Given the description of an element on the screen output the (x, y) to click on. 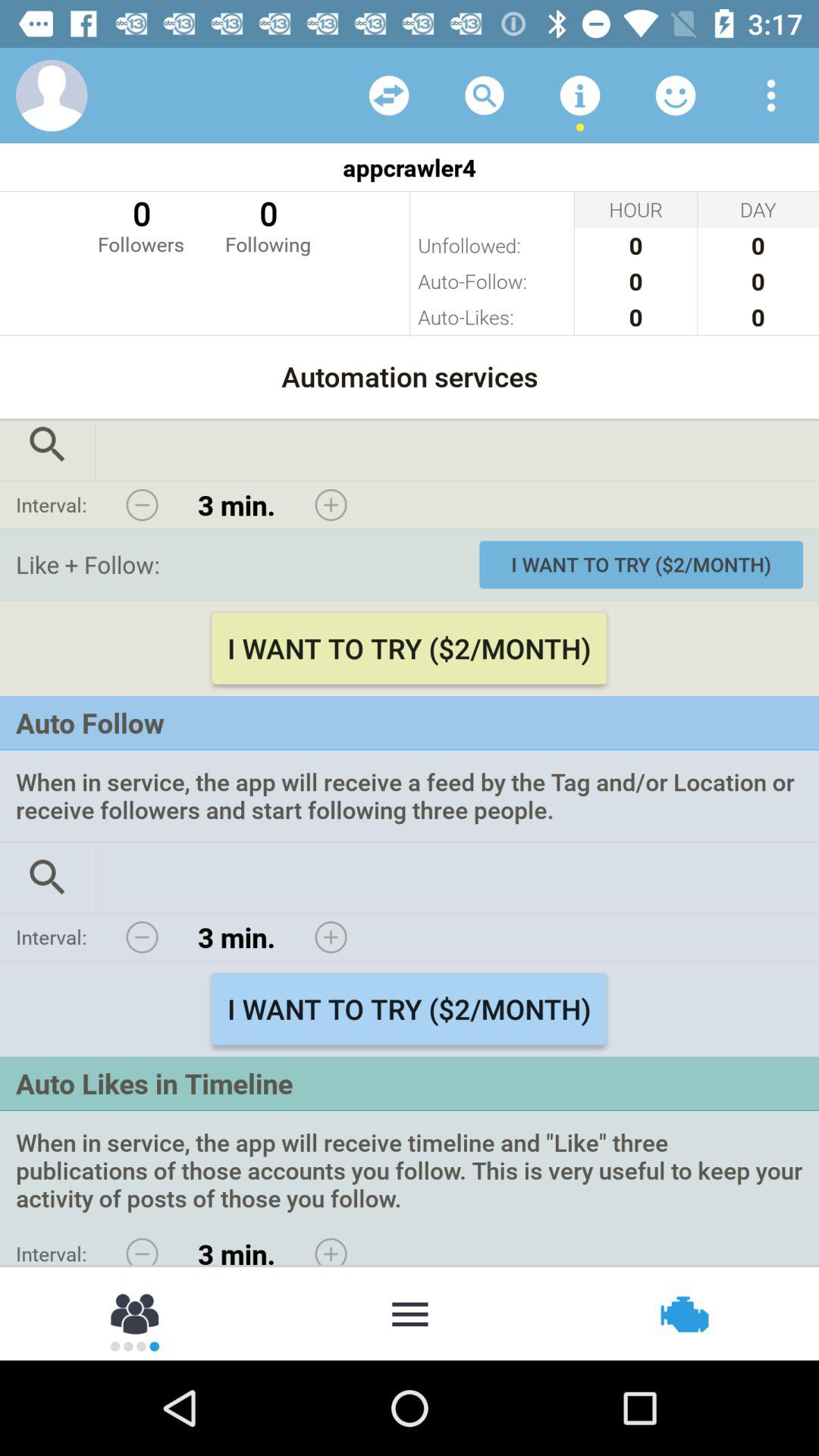
react with an emoji (675, 95)
